Given the description of an element on the screen output the (x, y) to click on. 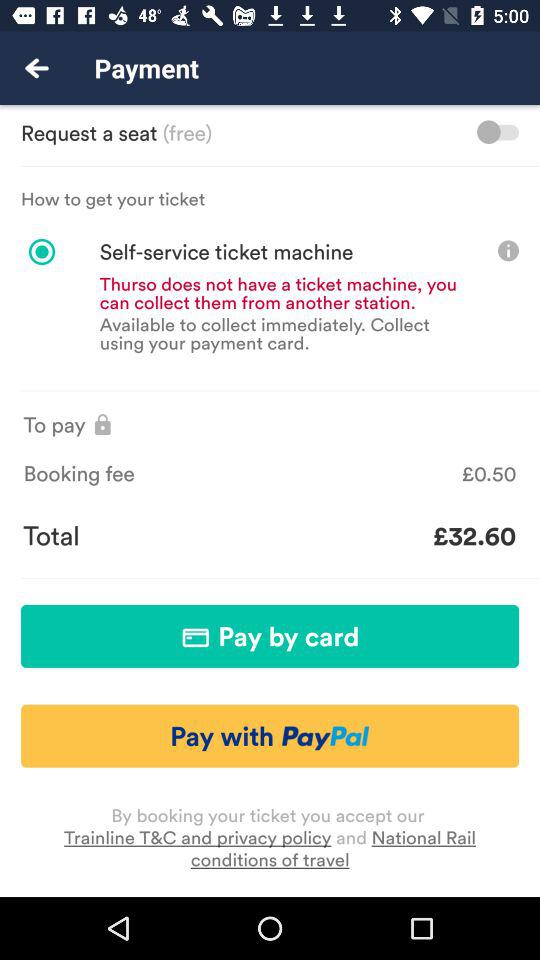
launch the self service ticket icon (198, 251)
